Given the description of an element on the screen output the (x, y) to click on. 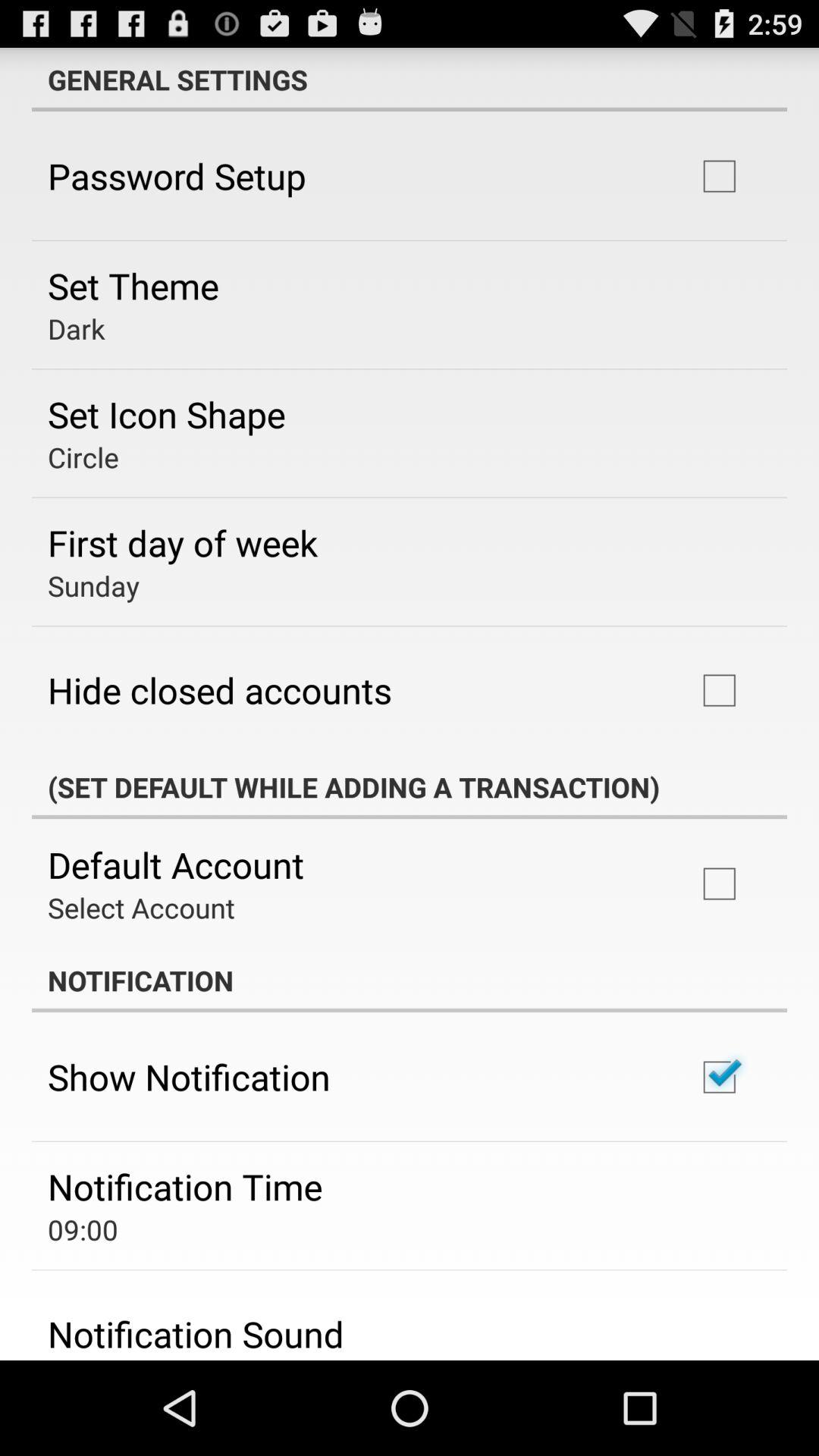
turn off icon below the password setup icon (132, 285)
